Given the description of an element on the screen output the (x, y) to click on. 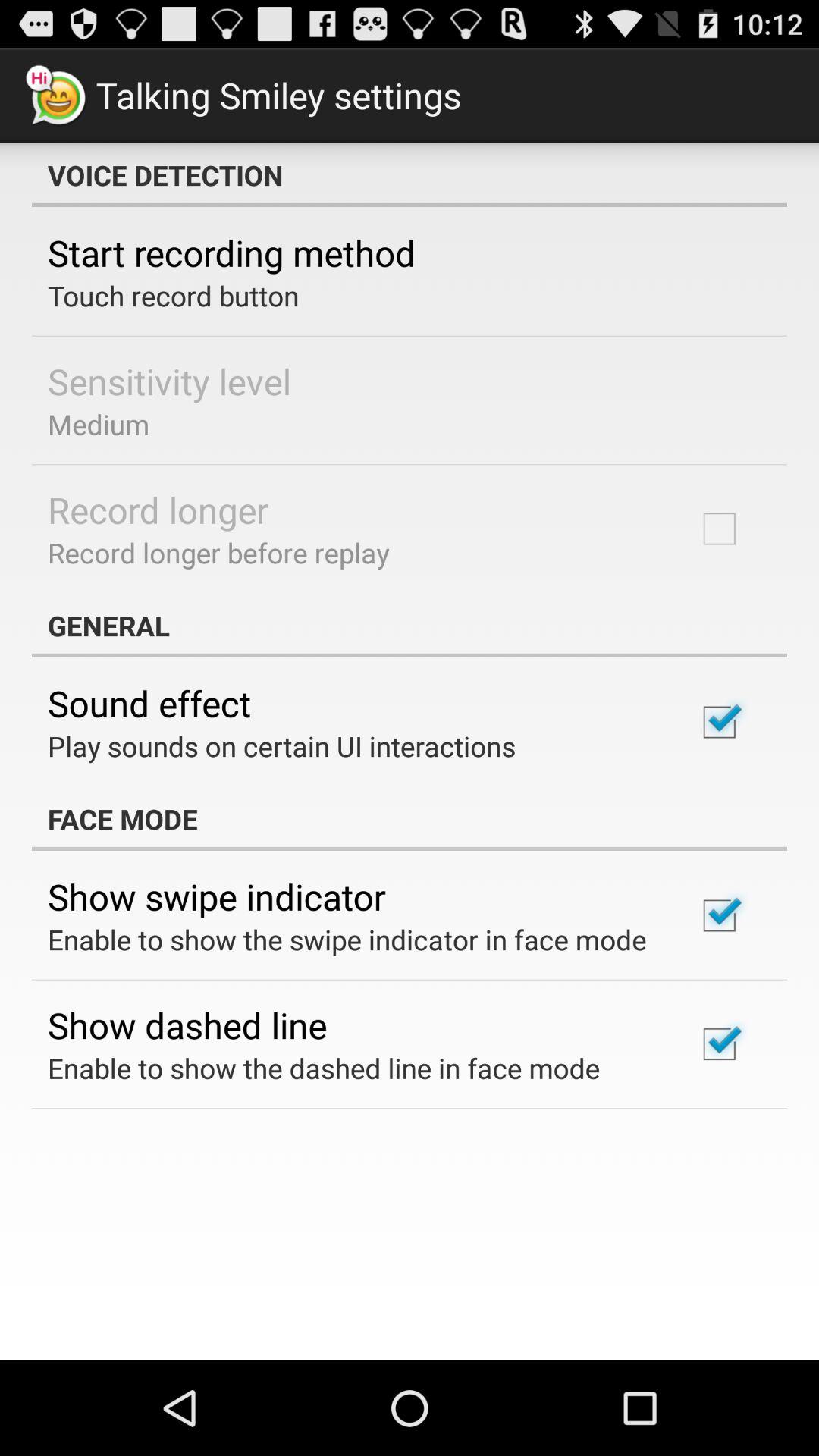
scroll to the voice detection item (409, 175)
